Given the description of an element on the screen output the (x, y) to click on. 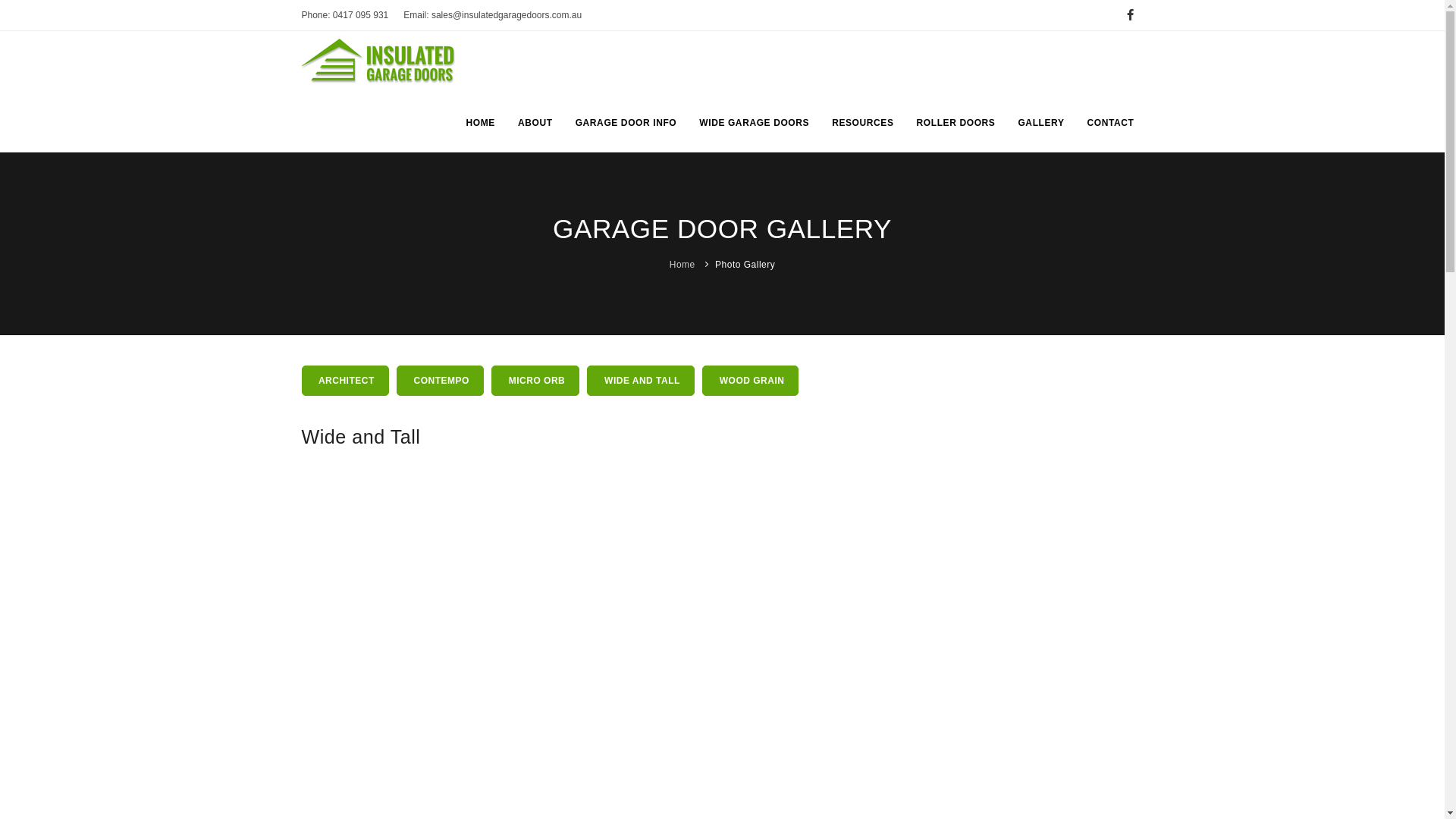
HOME Element type: text (480, 122)
Email: sales@insulatedgaragedoors.com.au Element type: text (492, 15)
Home Element type: text (682, 264)
Photo Gallery Element type: text (745, 264)
 WOOD GRAIN Element type: text (750, 381)
 ARCHITECT Element type: text (345, 381)
 CONTEMPO Element type: text (439, 381)
ABOUT Element type: text (534, 122)
CONTACT Element type: text (1110, 122)
 MICRO ORB Element type: text (535, 381)
ROLLER DOORS Element type: text (955, 122)
Phone: 0417 095 931 Element type: text (345, 15)
GALLERY Element type: text (1040, 122)
WIDE GARAGE DOORS Element type: text (754, 122)
RESOURCES Element type: text (862, 122)
 WIDE AND TALL Element type: text (640, 381)
GARAGE DOOR INFO Element type: text (626, 122)
